Given the description of an element on the screen output the (x, y) to click on. 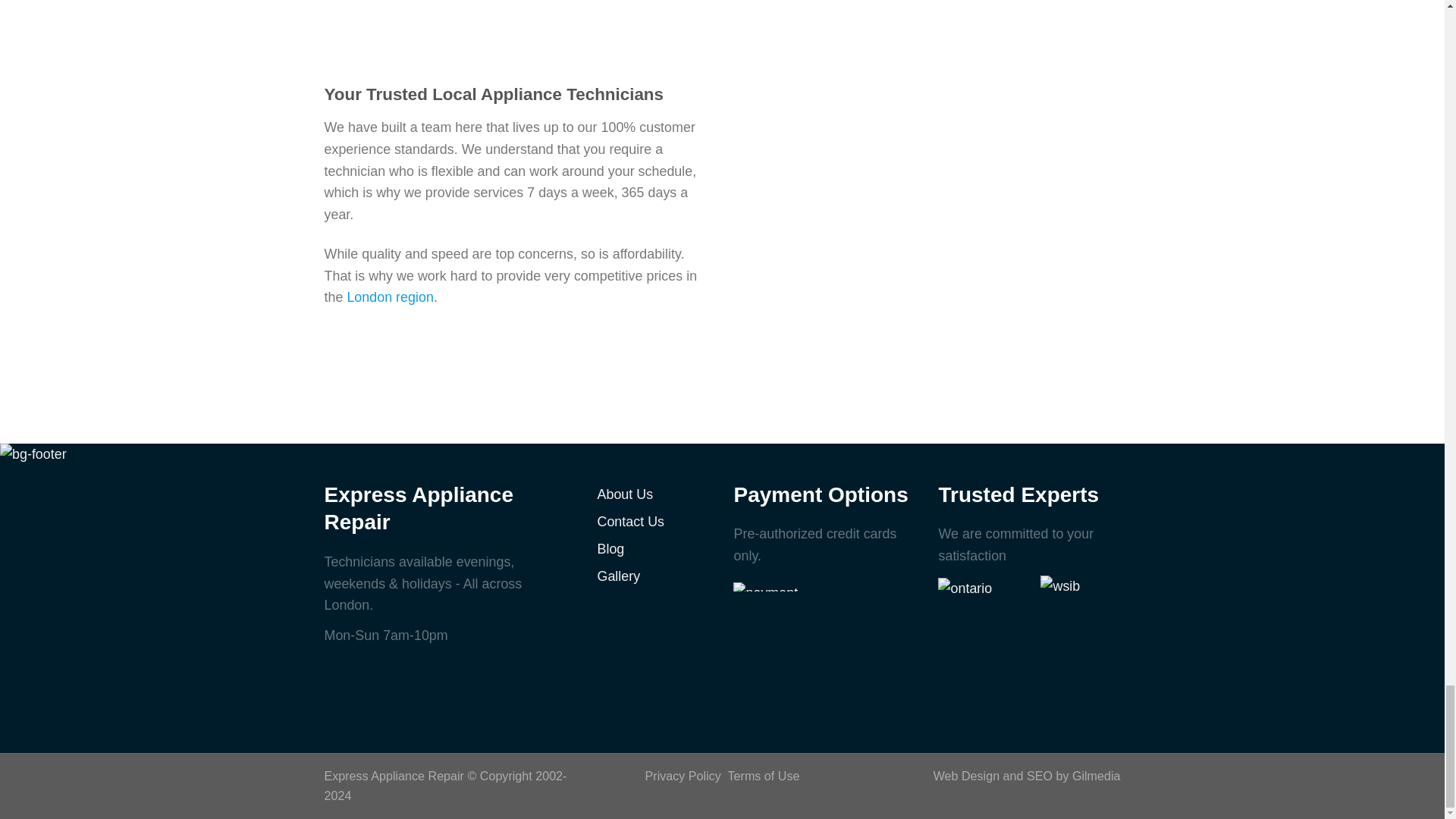
YouTube video player (721, 6)
Gallery (653, 575)
About Us (653, 494)
Privacy Policy (682, 775)
Express Appliance Repair (394, 775)
Blog (653, 548)
Terms of Use (763, 775)
London region (389, 296)
Contact Us (653, 522)
Gilmedia (1096, 775)
